Given the description of an element on the screen output the (x, y) to click on. 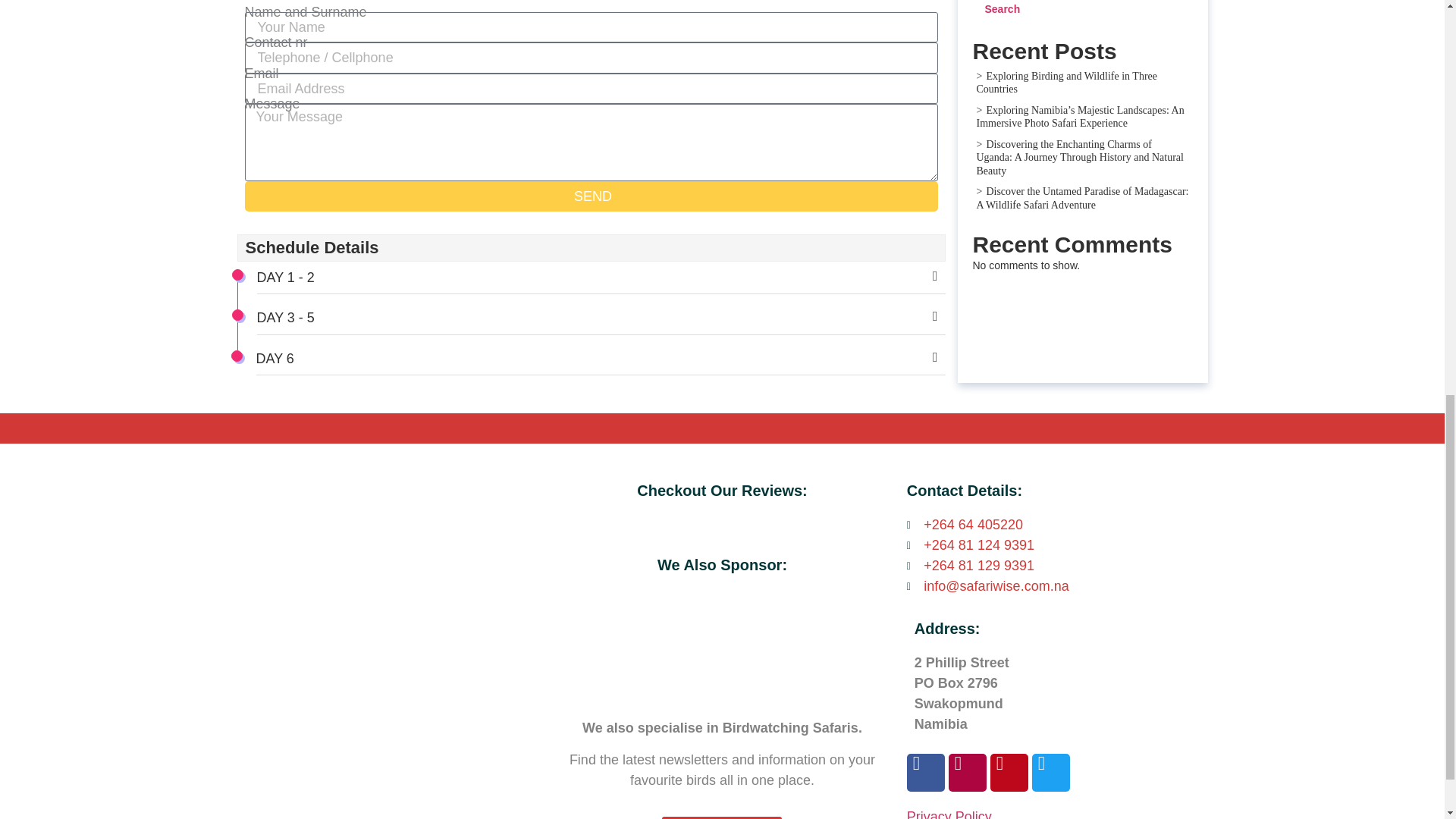
Exploring Birding and Wildlife in Three Countries (1066, 82)
Search (1002, 11)
SEND (590, 195)
